Given the description of an element on the screen output the (x, y) to click on. 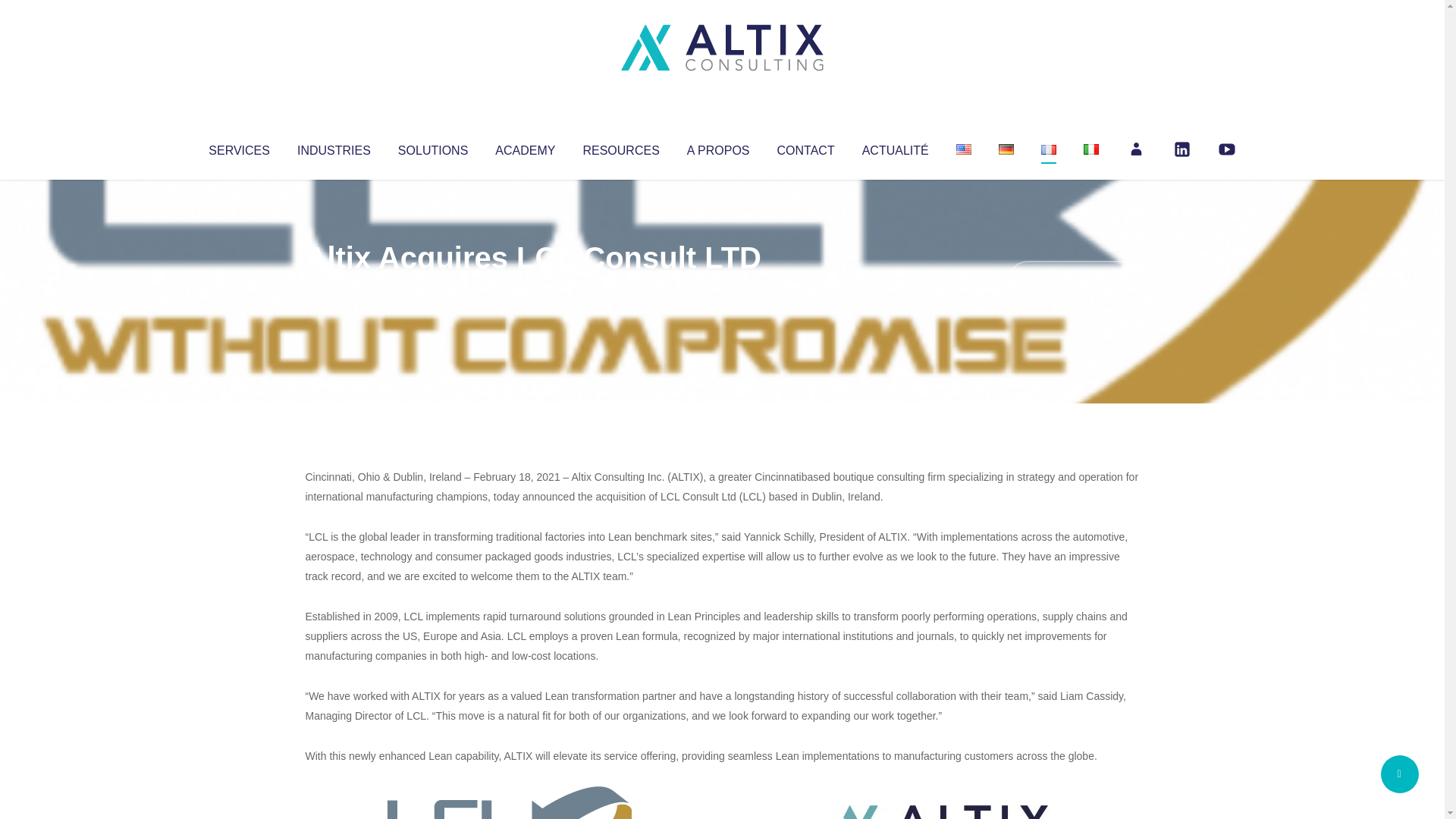
RESOURCES (620, 146)
No Comments (1073, 278)
Uncategorized (530, 287)
ACADEMY (524, 146)
SERVICES (238, 146)
SOLUTIONS (432, 146)
Altix (333, 287)
INDUSTRIES (334, 146)
A PROPOS (718, 146)
Articles par Altix (333, 287)
